Given the description of an element on the screen output the (x, y) to click on. 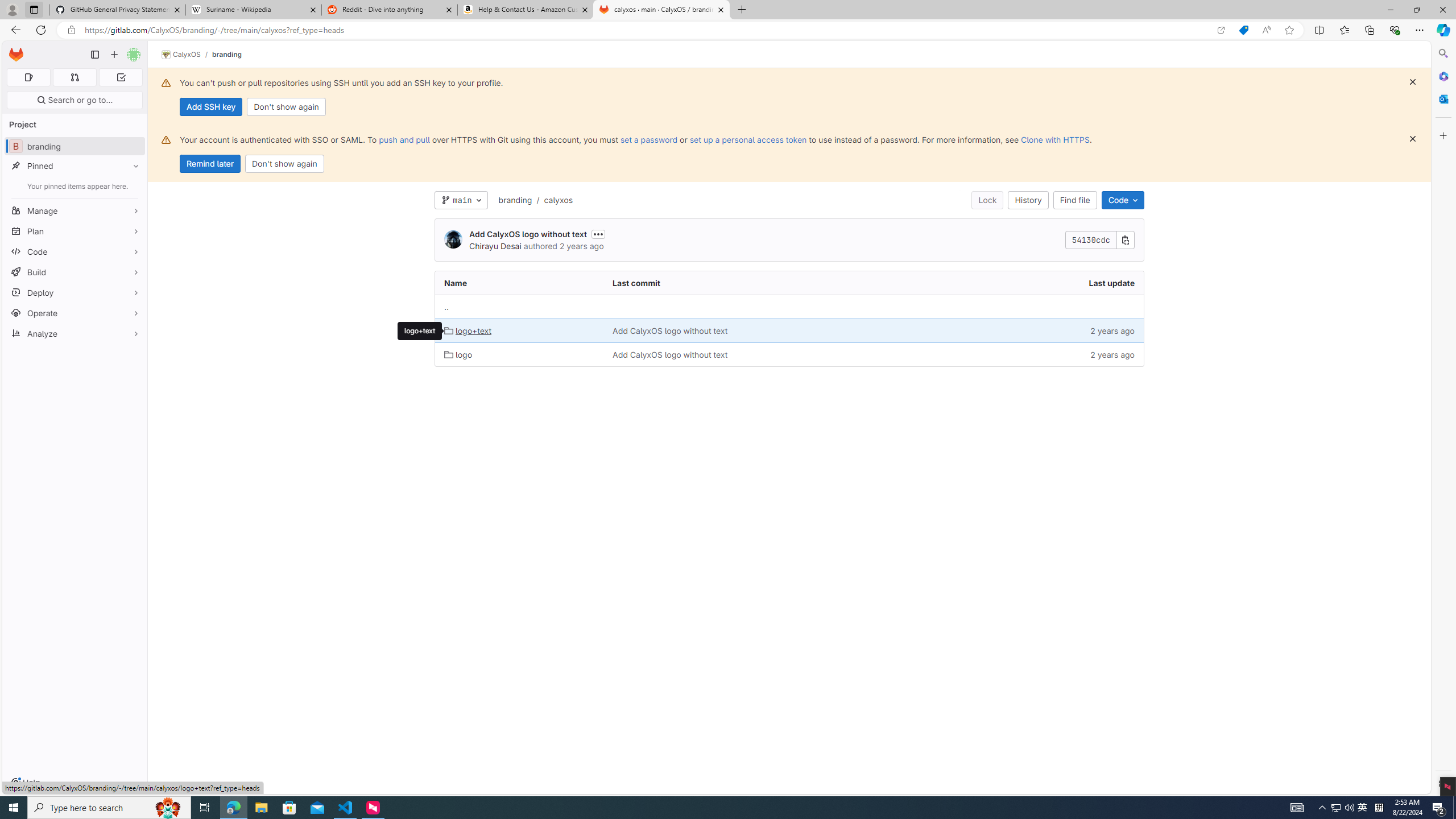
GitHub General Privacy Statement - GitHub Docs (117, 9)
Chirayu Desai's avatar (453, 239)
History (1027, 199)
Chirayu Desai (494, 245)
Suriname - Wikipedia (253, 9)
logo+text (468, 330)
set a password (649, 139)
Code (74, 251)
Add CalyxOS logo without text (774, 354)
Shopping in Microsoft Edge (1243, 29)
Manage (74, 210)
logo (519, 354)
Clone with HTTPS (1054, 139)
